Given the description of an element on the screen output the (x, y) to click on. 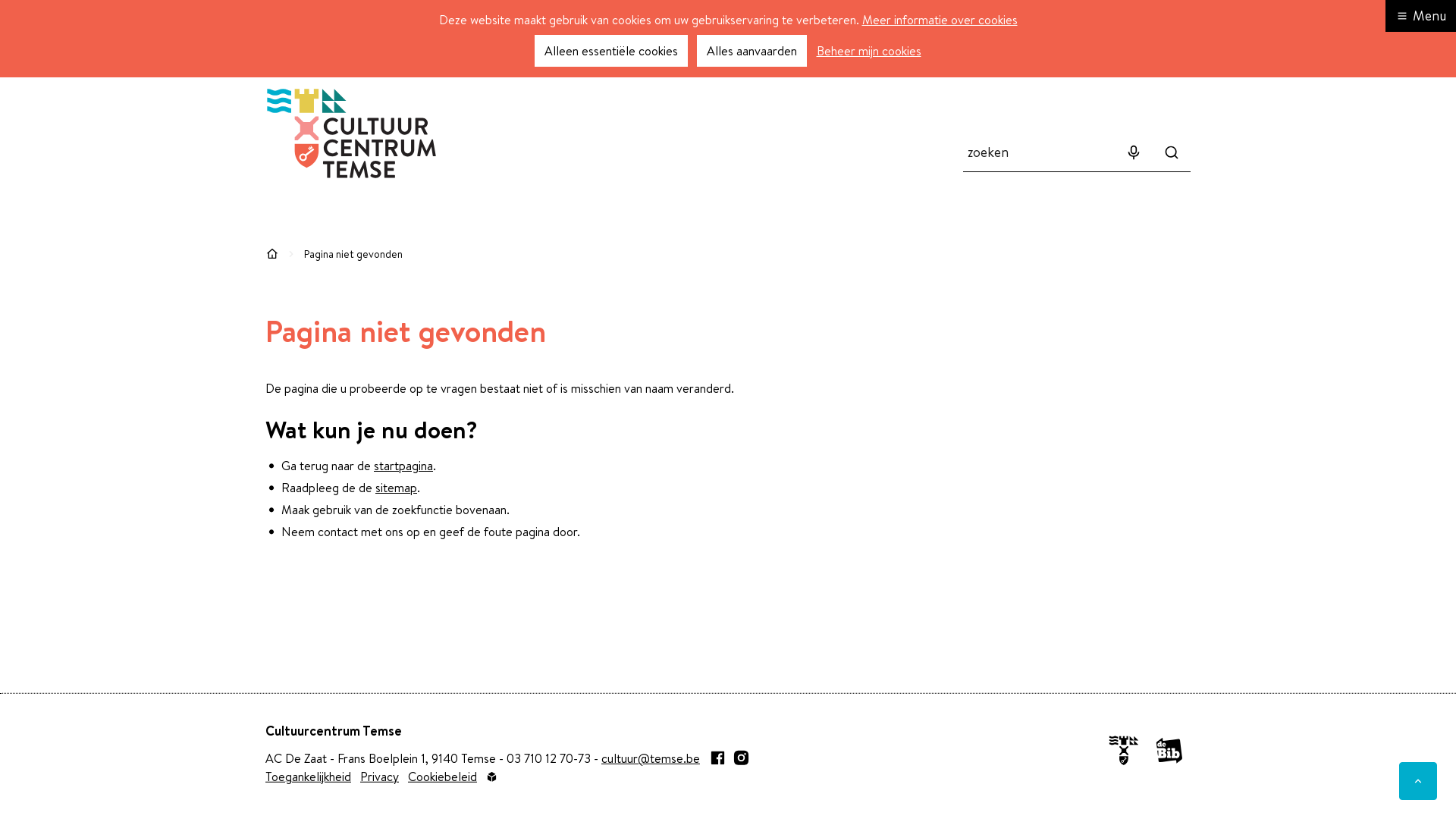
Facebook Element type: text (717, 757)
Naar top Element type: text (1418, 781)
Zoeken Element type: text (1171, 152)
startpagina Element type: text (403, 465)
cultuur@temse.be Element type: text (650, 757)
Opzoeking via microfoon activeren Element type: text (1133, 152)
Pagina niet gevonden Element type: text (353, 253)
Meer informatie over cookies Element type: text (938, 19)
sitemap Element type: text (396, 487)
Instagram Element type: text (740, 757)
Cookiebeleid Element type: text (441, 776)
Privacy Element type: text (379, 776)
Alles aanvaarden Element type: text (751, 50)
Beheer mijn cookies Element type: text (868, 50)
Toegankelijkheid Element type: text (308, 776)
Home Element type: text (272, 253)
CCTemse Element type: text (351, 132)
